Given the description of an element on the screen output the (x, y) to click on. 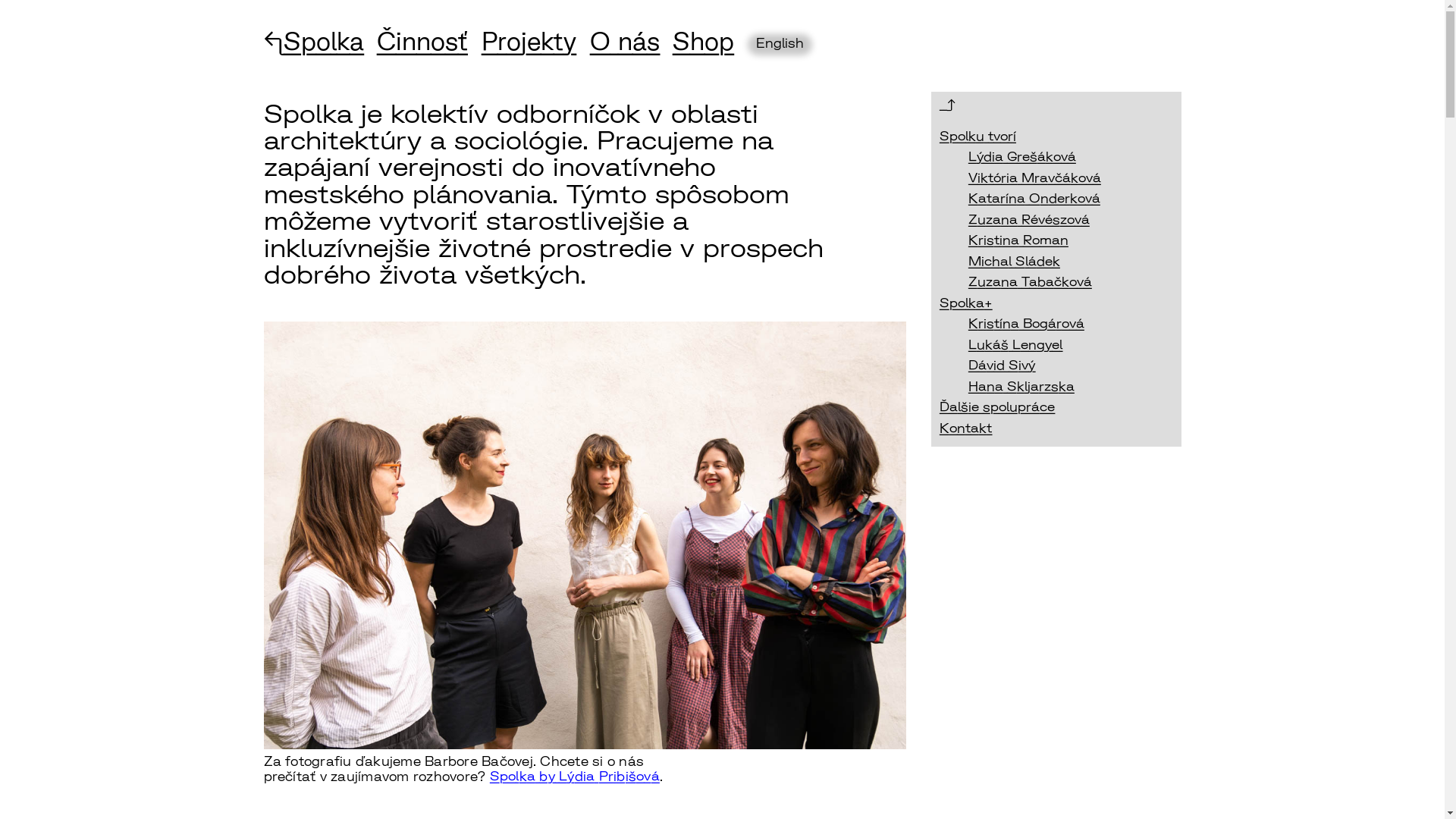
Kontakt Element type: text (964, 427)
Spolka+ Element type: text (964, 302)
Shop Element type: text (703, 40)
English Element type: text (779, 45)
Kristina Roman Element type: text (1018, 239)
Hana Skljarzska Element type: text (1021, 386)
Projekty Element type: text (528, 40)
